Given the description of an element on the screen output the (x, y) to click on. 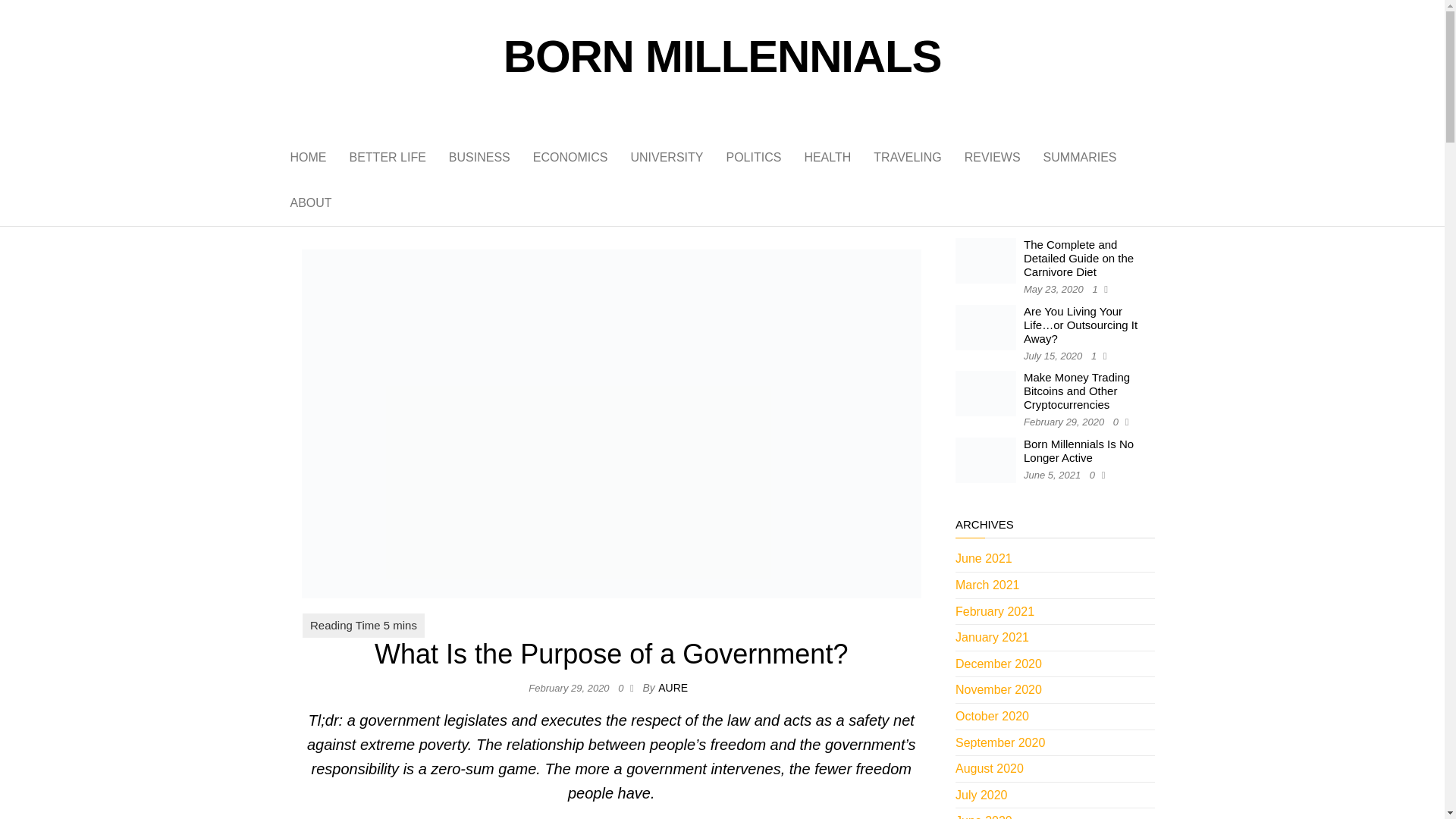
Born Millennials Is No Longer Active (1078, 450)
ECONOMICS (570, 157)
HOME (308, 157)
University (666, 157)
Make Money Trading Bitcoins and Other Cryptocurrencies (1076, 391)
0 (1119, 421)
ABOUT (311, 203)
About (311, 203)
Business (479, 157)
0 (623, 687)
